Given the description of an element on the screen output the (x, y) to click on. 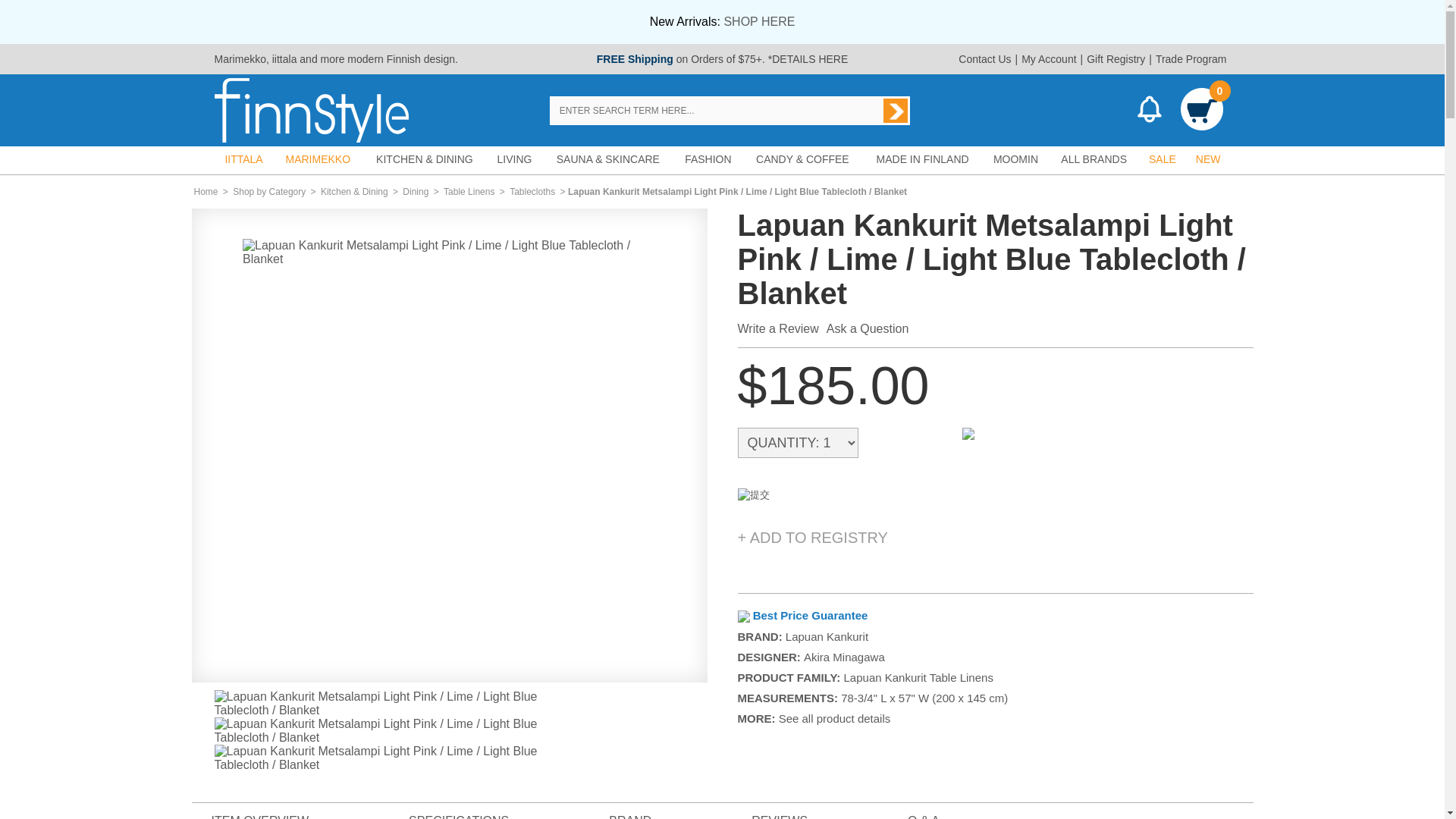
iittala (284, 59)
NEW (1208, 159)
MARIMEKKO (318, 159)
MOOMIN (1016, 159)
Marimekko (239, 59)
FASHION (708, 159)
0 (1201, 110)
SHOP HERE (758, 21)
SALE (1162, 159)
Gift Registry (1115, 59)
